Given the description of an element on the screen output the (x, y) to click on. 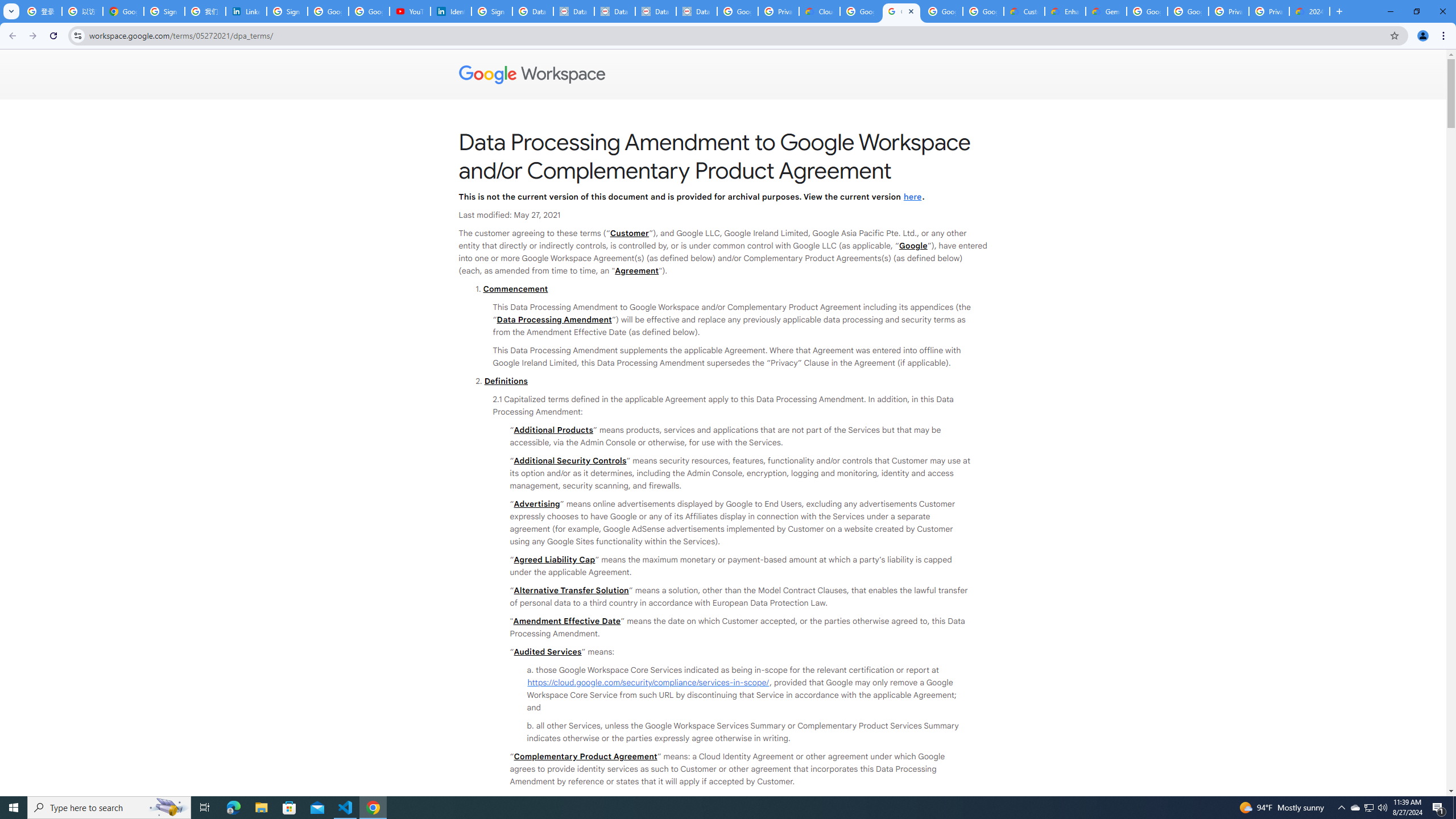
Google Cloud Platform (1187, 11)
Customer Care | Google Cloud (1023, 11)
Data Privacy Framework (614, 11)
Sign in - Google Accounts (163, 11)
Enhanced Support | Google Cloud (1064, 11)
